Given the description of an element on the screen output the (x, y) to click on. 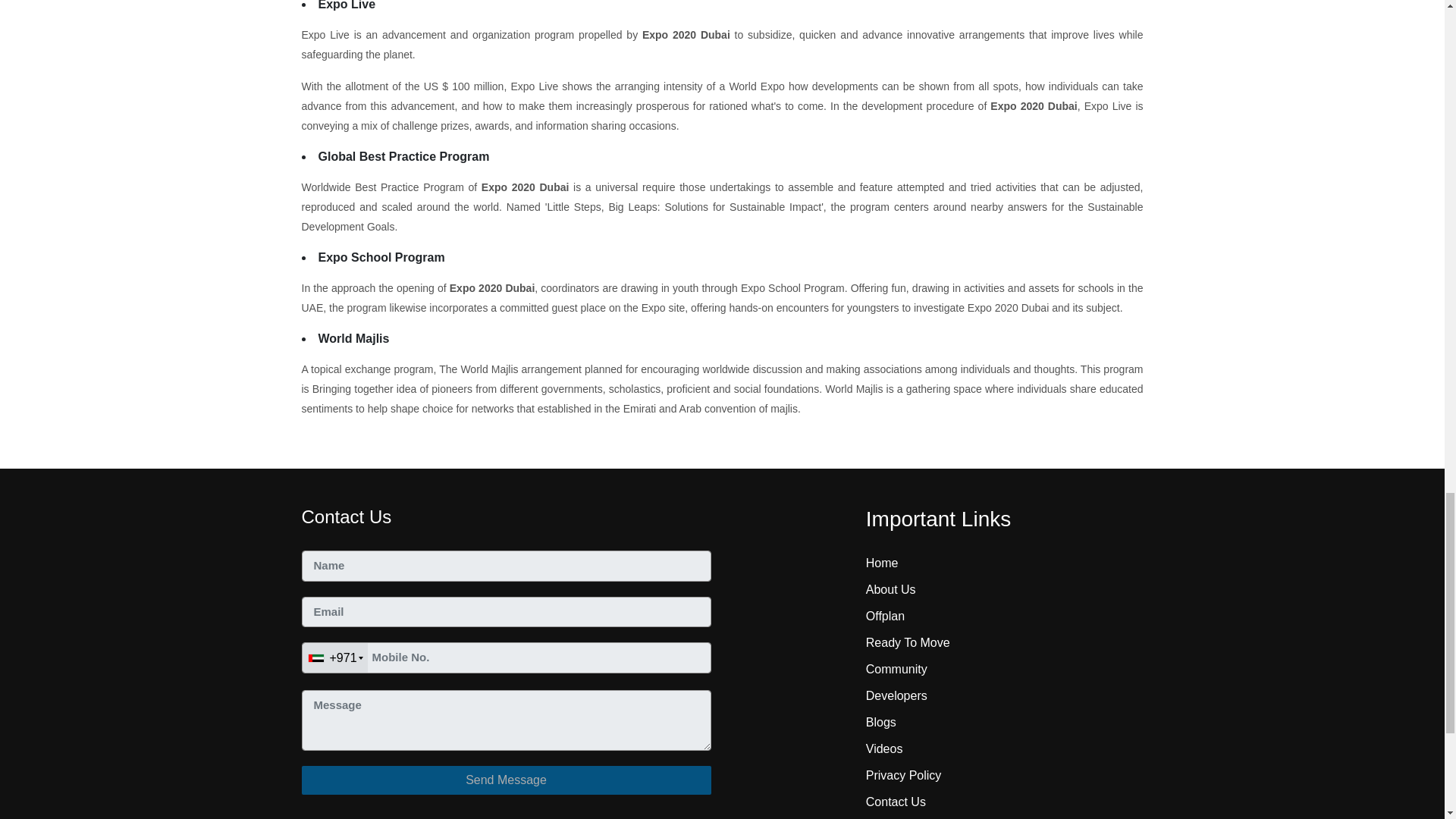
Community (896, 668)
Home (882, 562)
Ready To Move (908, 642)
Send Message (506, 779)
Blogs (881, 721)
Contact Us (896, 801)
Privacy Policy (904, 775)
Videos (884, 748)
About Us (890, 589)
Offplan (885, 615)
Developers (896, 695)
